Given the description of an element on the screen output the (x, y) to click on. 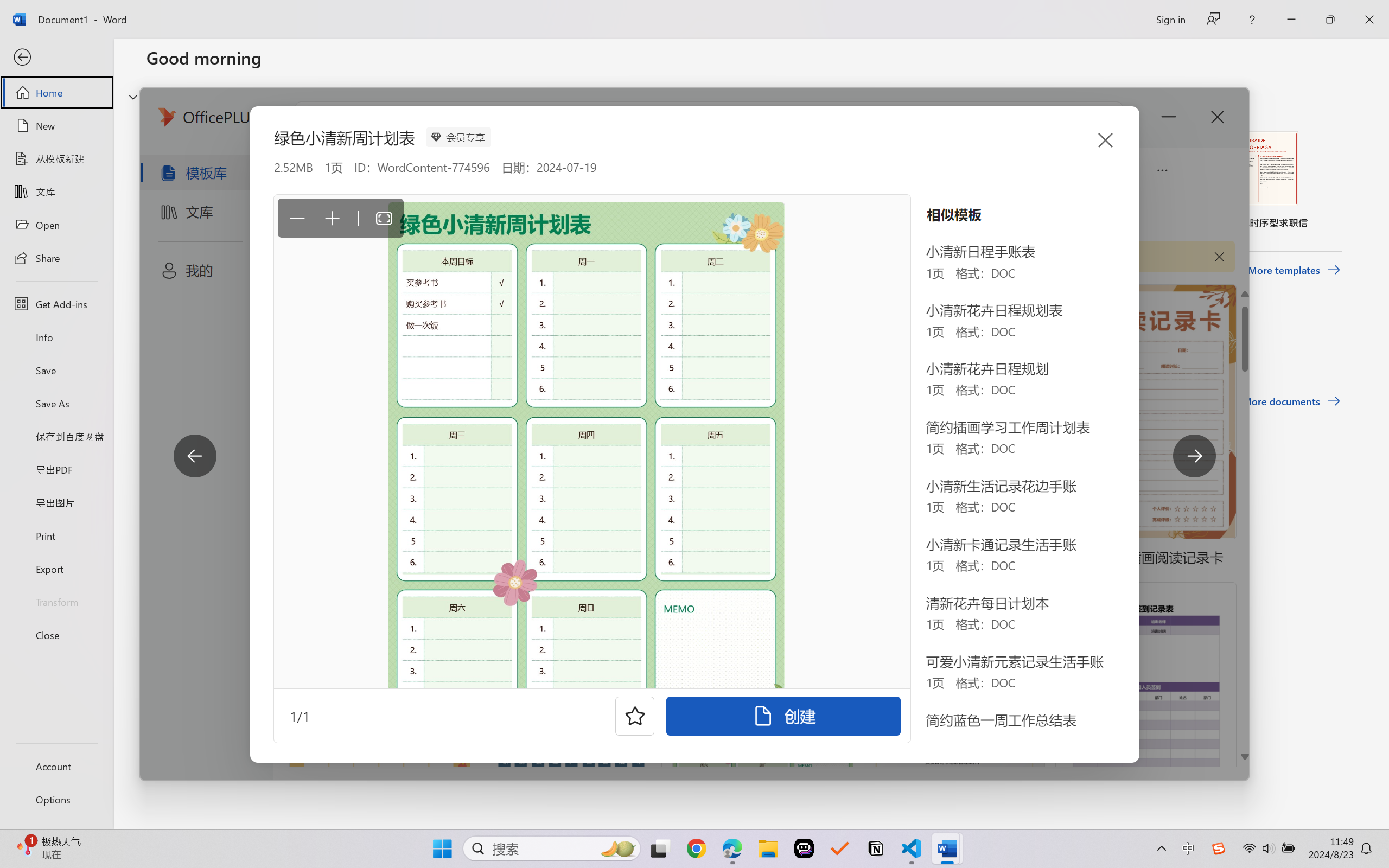
More documents (1290, 401)
Transform (56, 601)
Pinned (226, 345)
Get Add-ins (56, 303)
Hide or show region (133, 96)
New (56, 125)
Info (56, 337)
